Given the description of an element on the screen output the (x, y) to click on. 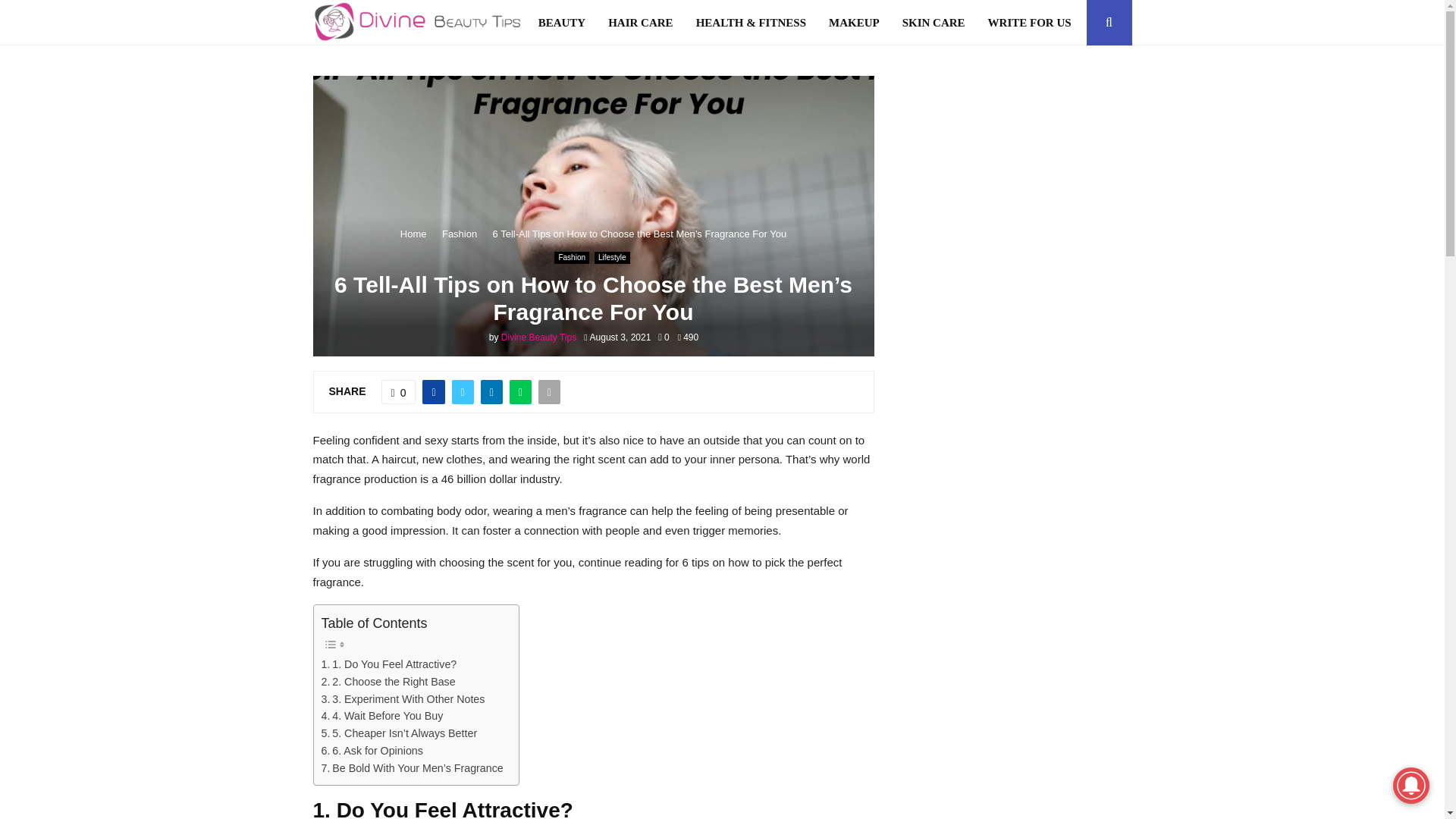
2. Choose the Right Base (388, 682)
Lifestyle (612, 257)
0 (663, 337)
Divine Beauty Tips (538, 337)
BEAUTY (562, 22)
SKIN CARE (933, 22)
Fashion (571, 257)
HAIR CARE (640, 22)
6. Ask for Opinions (372, 751)
3. Experiment With Other Notes (402, 699)
0 (398, 392)
4. Wait Before You Buy (382, 715)
6. Ask for Opinions (372, 751)
2. Choose the Right Base (388, 682)
Fashion (459, 233)
